Given the description of an element on the screen output the (x, y) to click on. 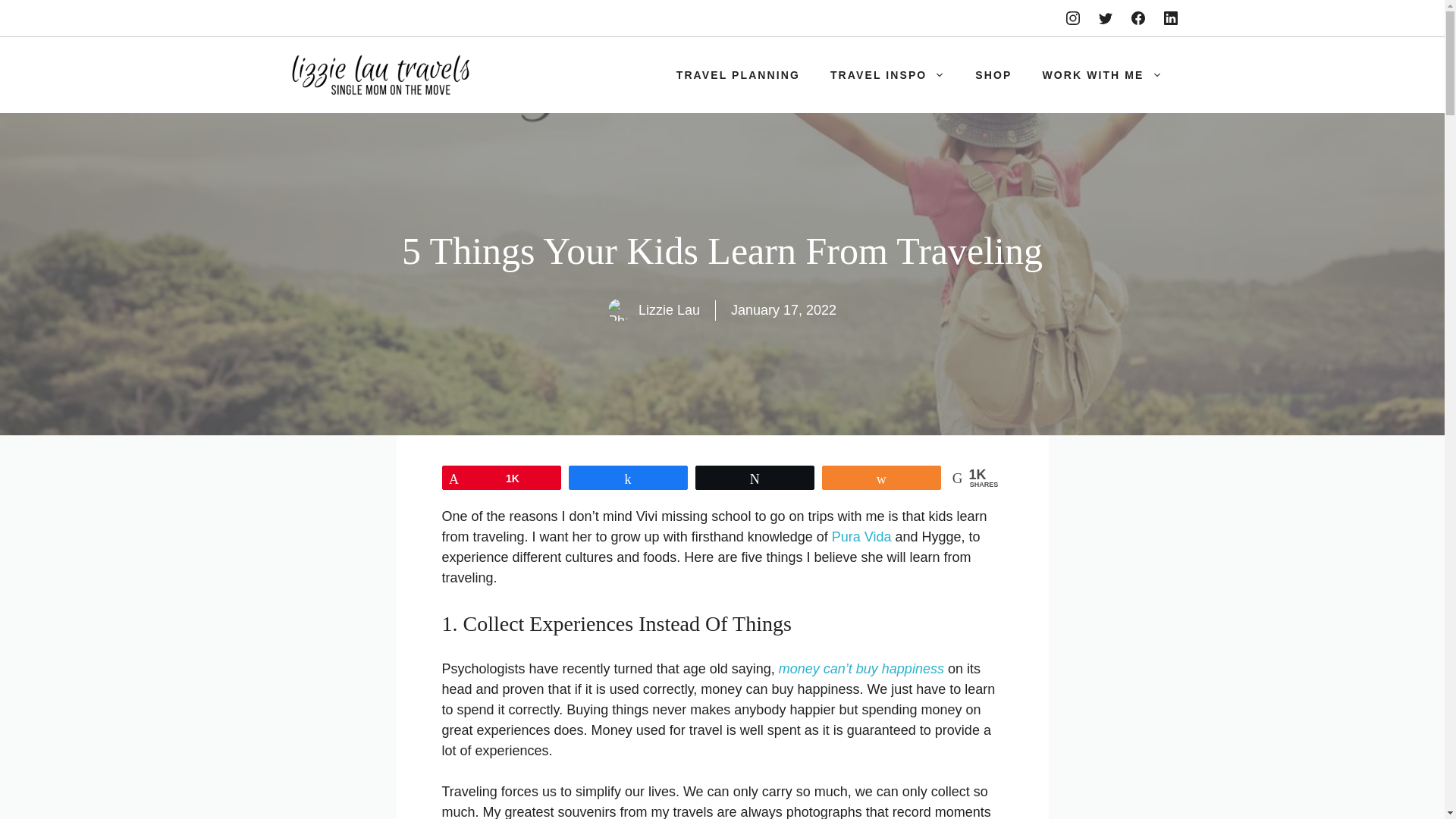
WORK WITH ME (1101, 74)
1K (501, 477)
TRAVEL PLANNING (738, 74)
SHOP (992, 74)
TRAVEL INSPO (887, 74)
Pura Vida (861, 536)
